Given the description of an element on the screen output the (x, y) to click on. 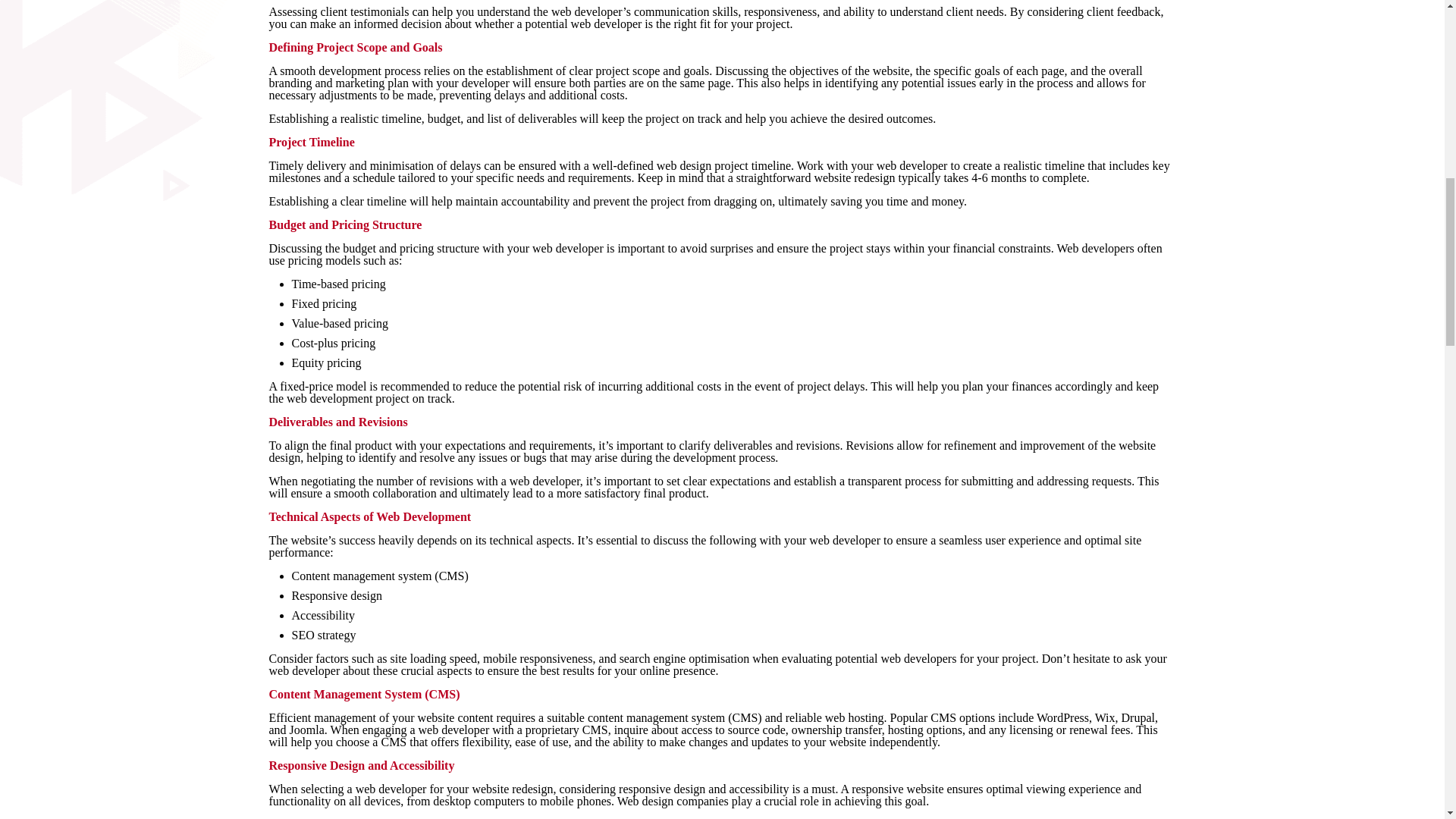
WCAG 2.1 (969, 818)
